Given the description of an element on the screen output the (x, y) to click on. 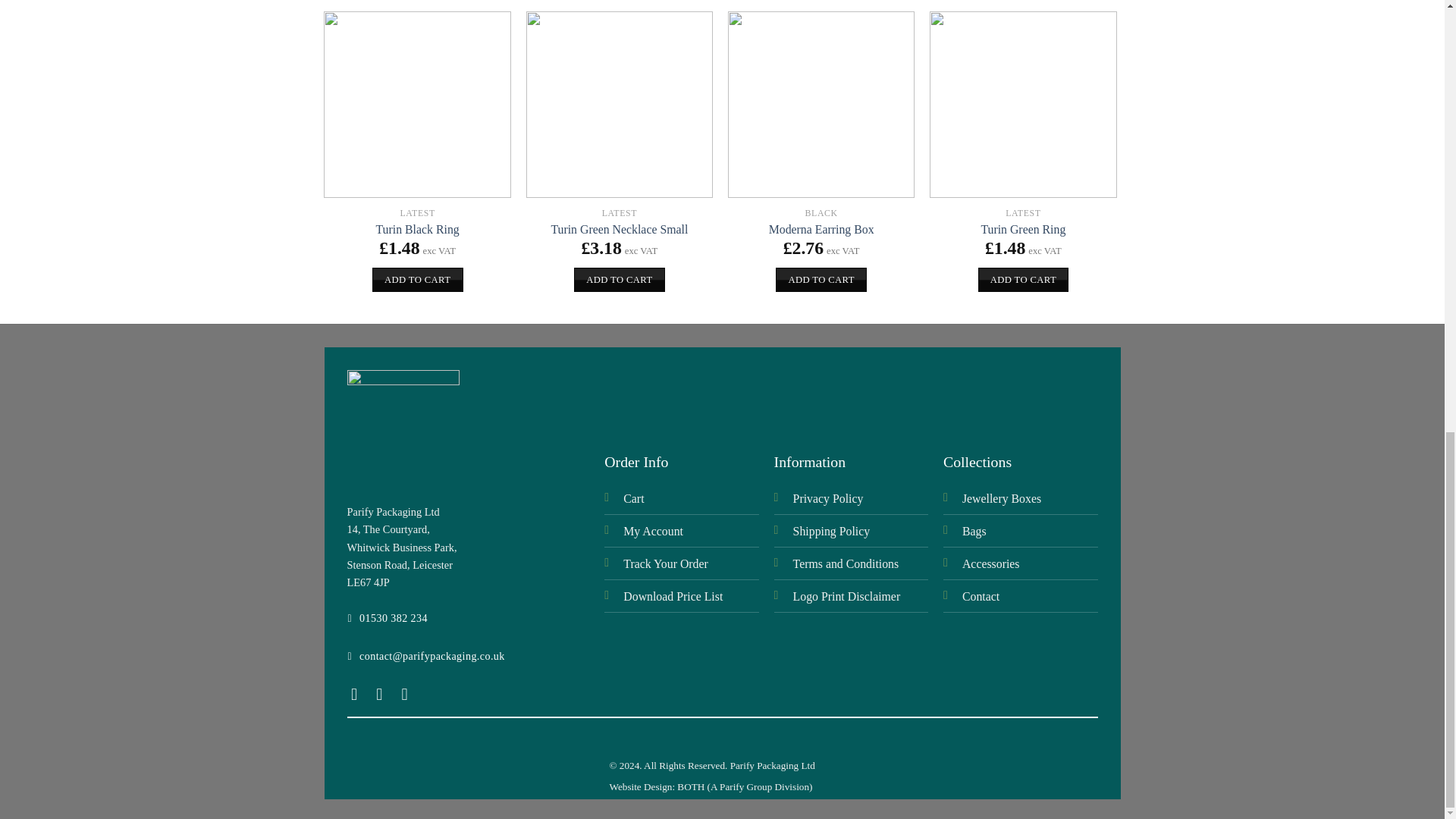
Minimum qty is 100 (619, 279)
Minimum qty is 100 (1023, 279)
Minimum qty is 100 (1225, 279)
Minimum qty is 100 (821, 279)
Minimum qty is 100 (417, 279)
